Given the description of an element on the screen output the (x, y) to click on. 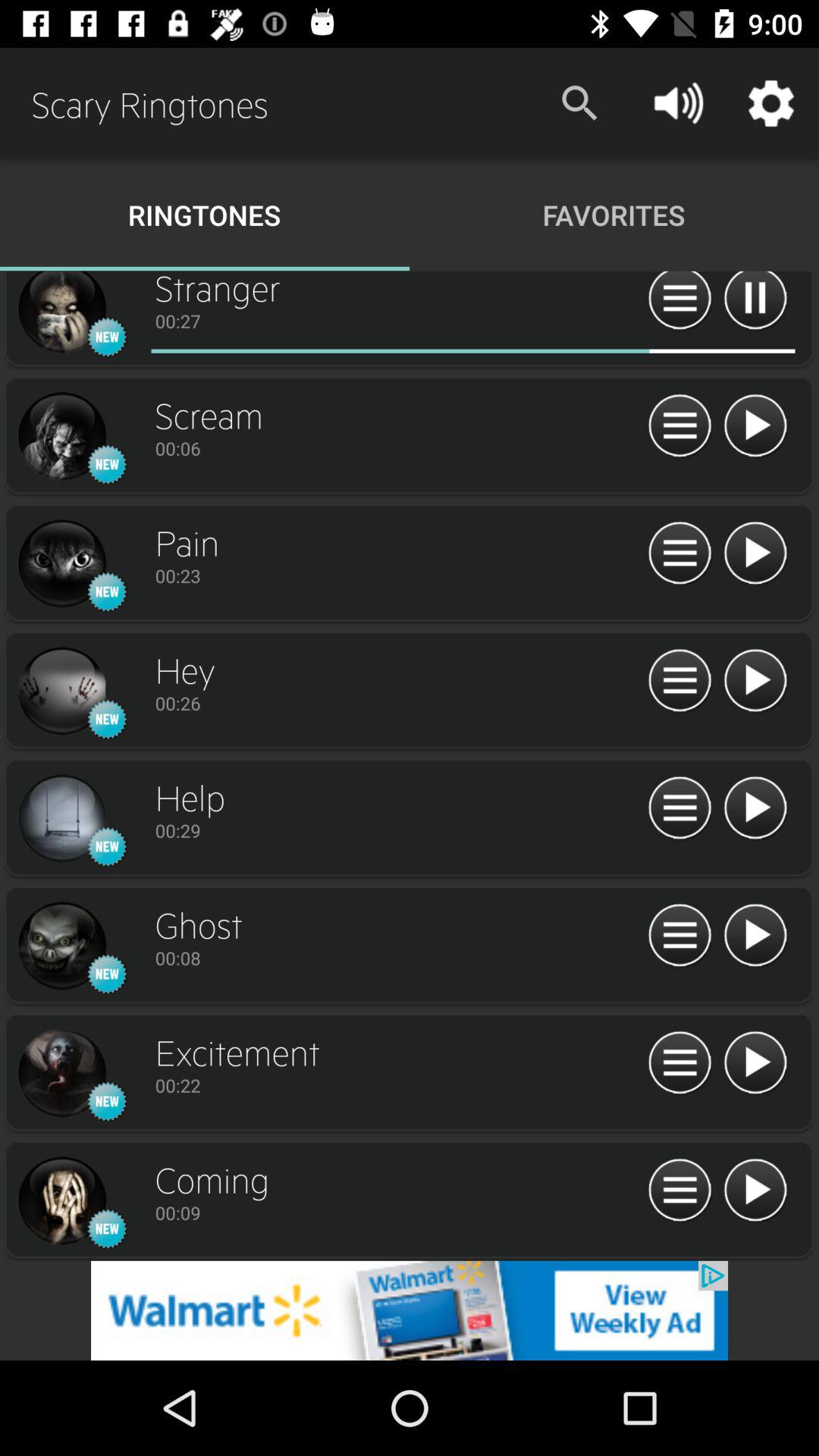
more song options (679, 808)
